Given the description of an element on the screen output the (x, y) to click on. 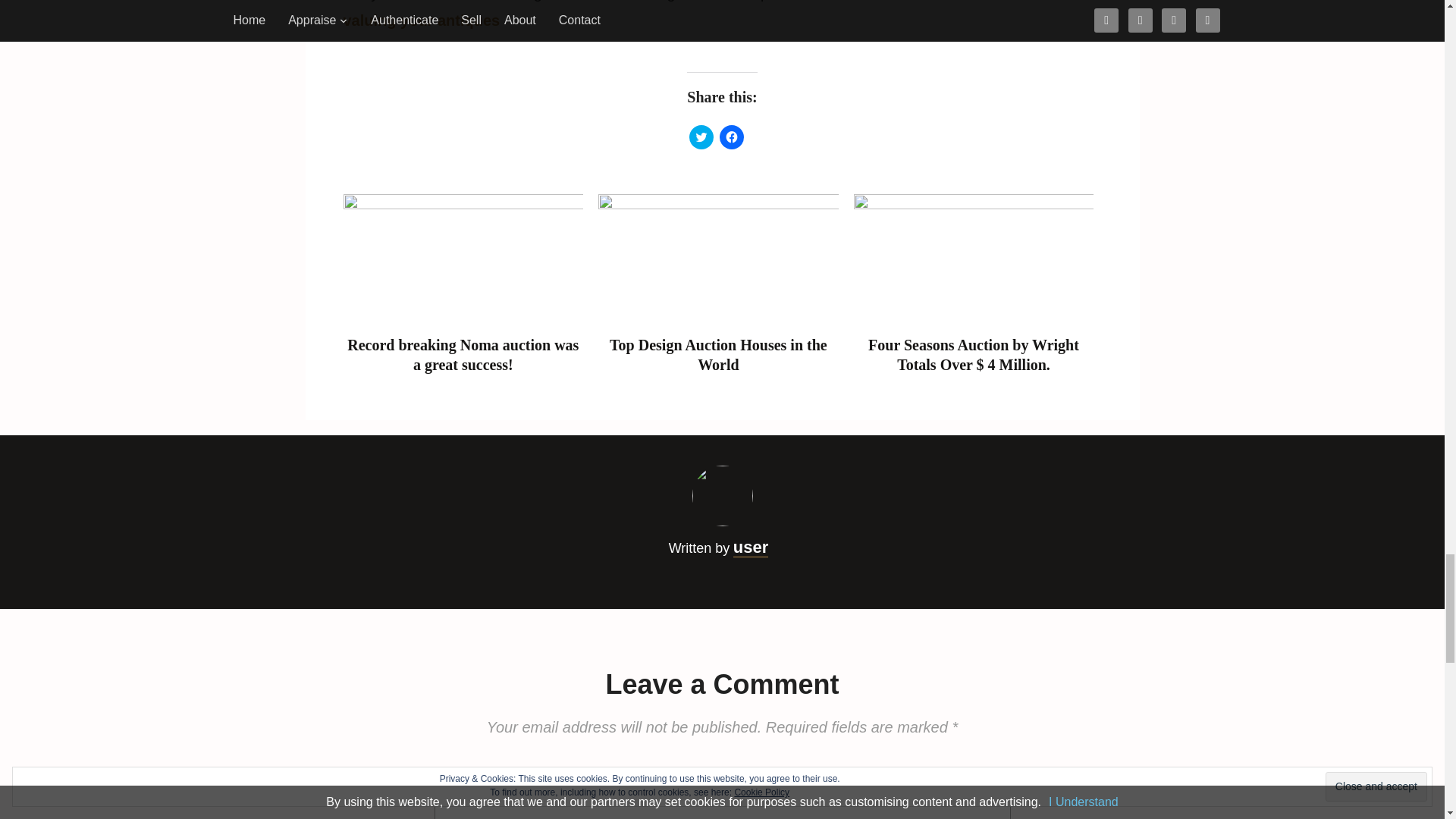
Click to share on Twitter (700, 137)
Record breaking Noma auction was a great success! (462, 258)
Posts by user (750, 547)
Top Design Auction Houses in the World (718, 354)
Record breaking Noma auction was a great success! (462, 354)
Top Design Auction Houses in the World (718, 258)
Click to share on Facebook (730, 137)
